Given the description of an element on the screen output the (x, y) to click on. 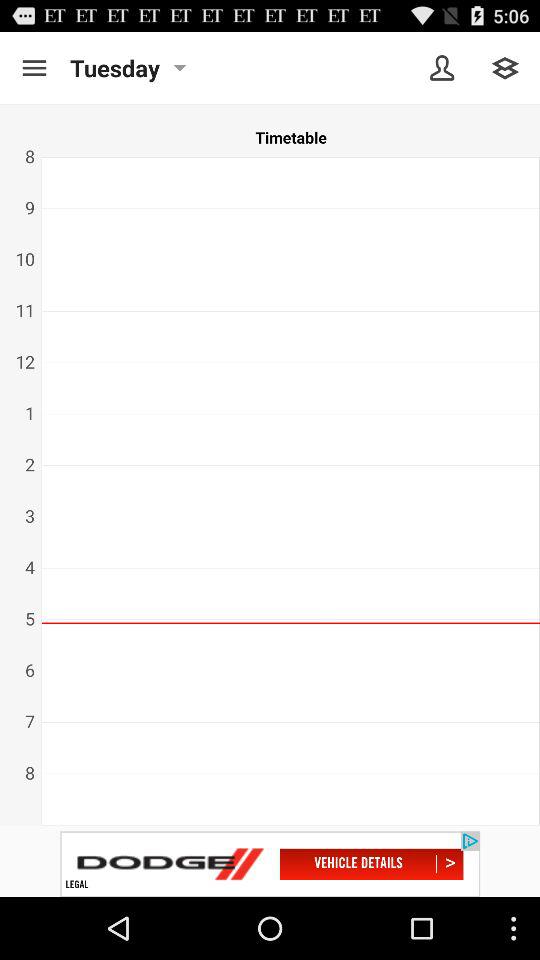
friend button (442, 68)
